Given the description of an element on the screen output the (x, y) to click on. 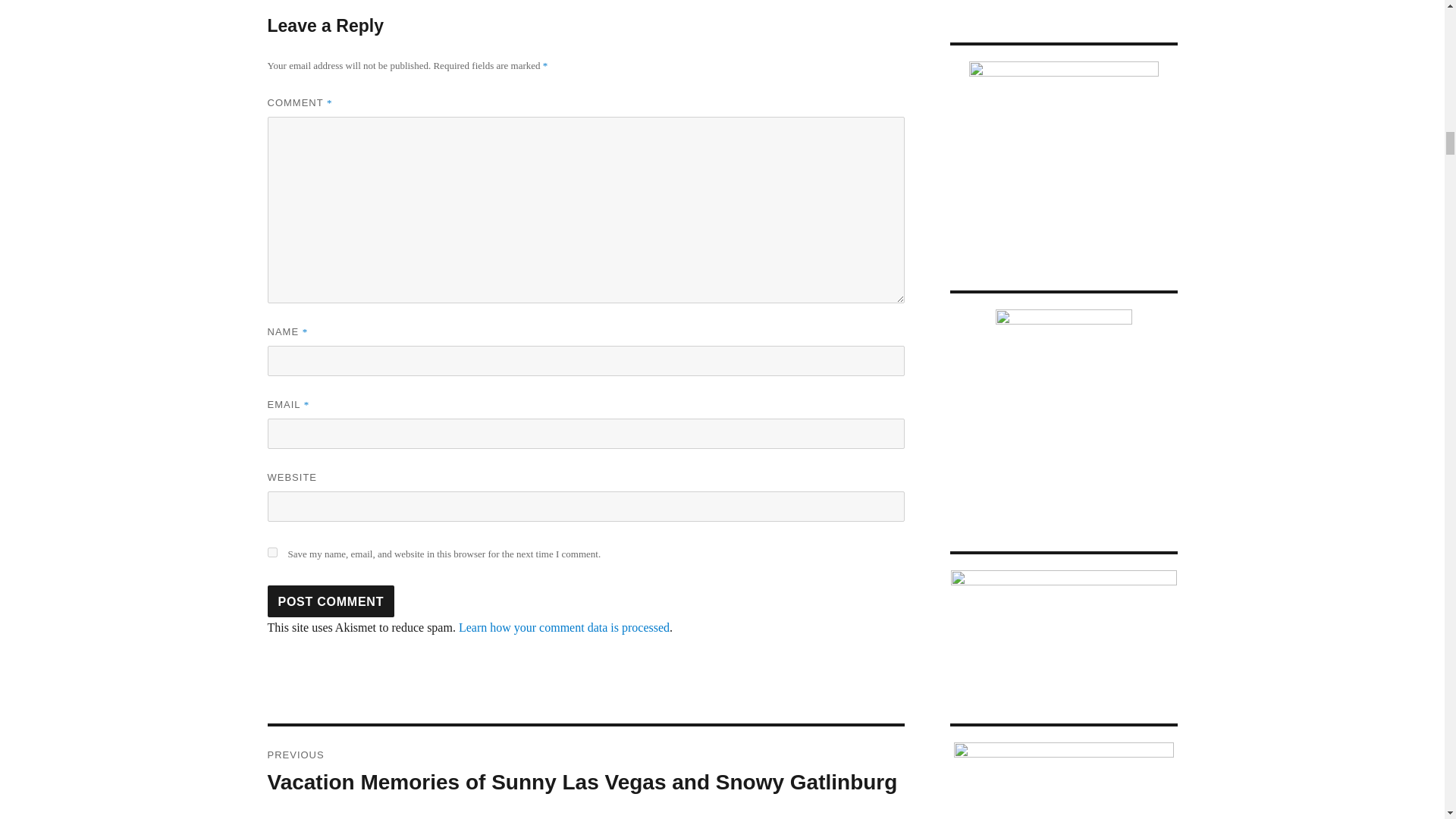
Post Comment (330, 601)
yes (271, 552)
Post Comment (330, 601)
Learn how your comment data is processed (563, 626)
